Given the description of an element on the screen output the (x, y) to click on. 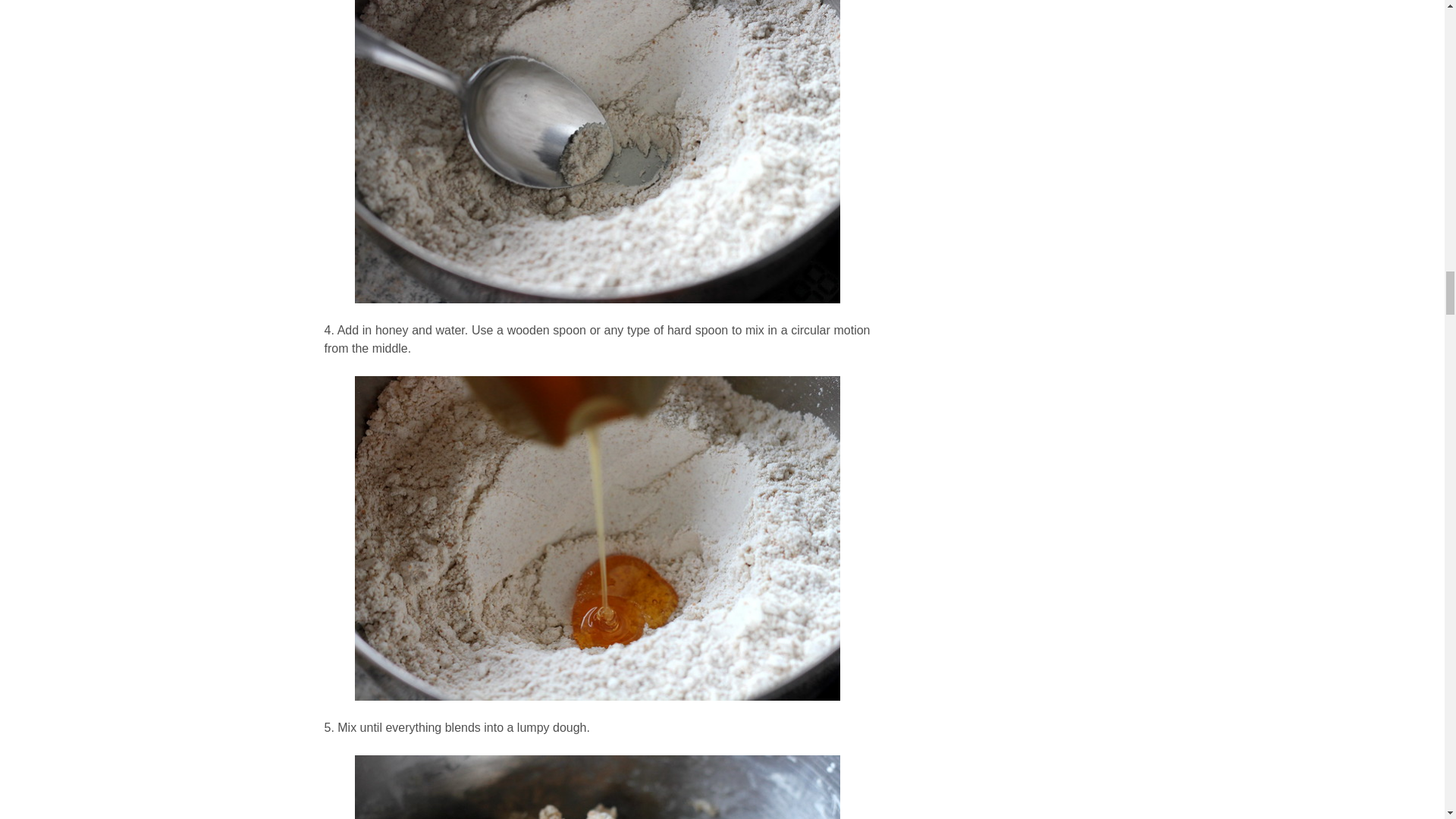
 rose cake 3 by LinhTrang9185, on Flickr (597, 787)
